Given the description of an element on the screen output the (x, y) to click on. 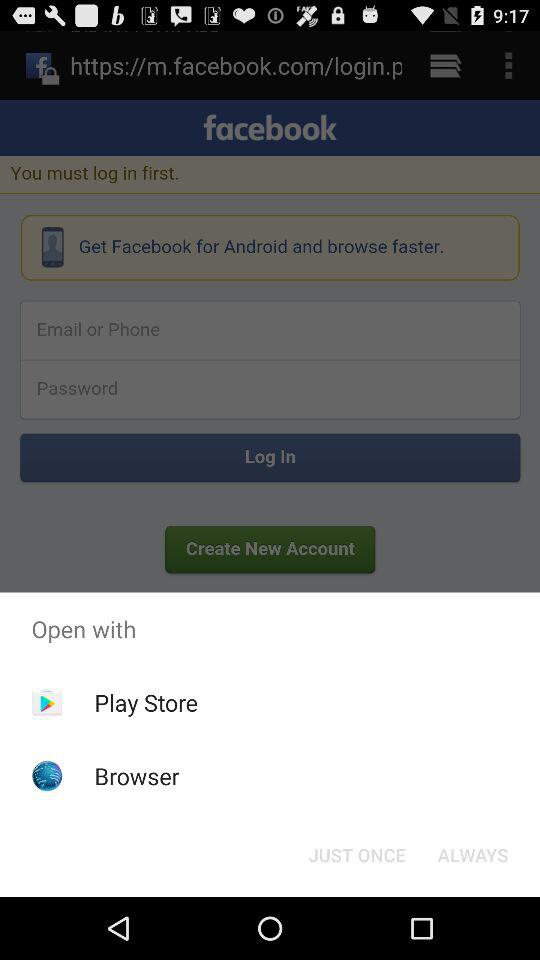
turn off app below open with app (146, 702)
